Given the description of an element on the screen output the (x, y) to click on. 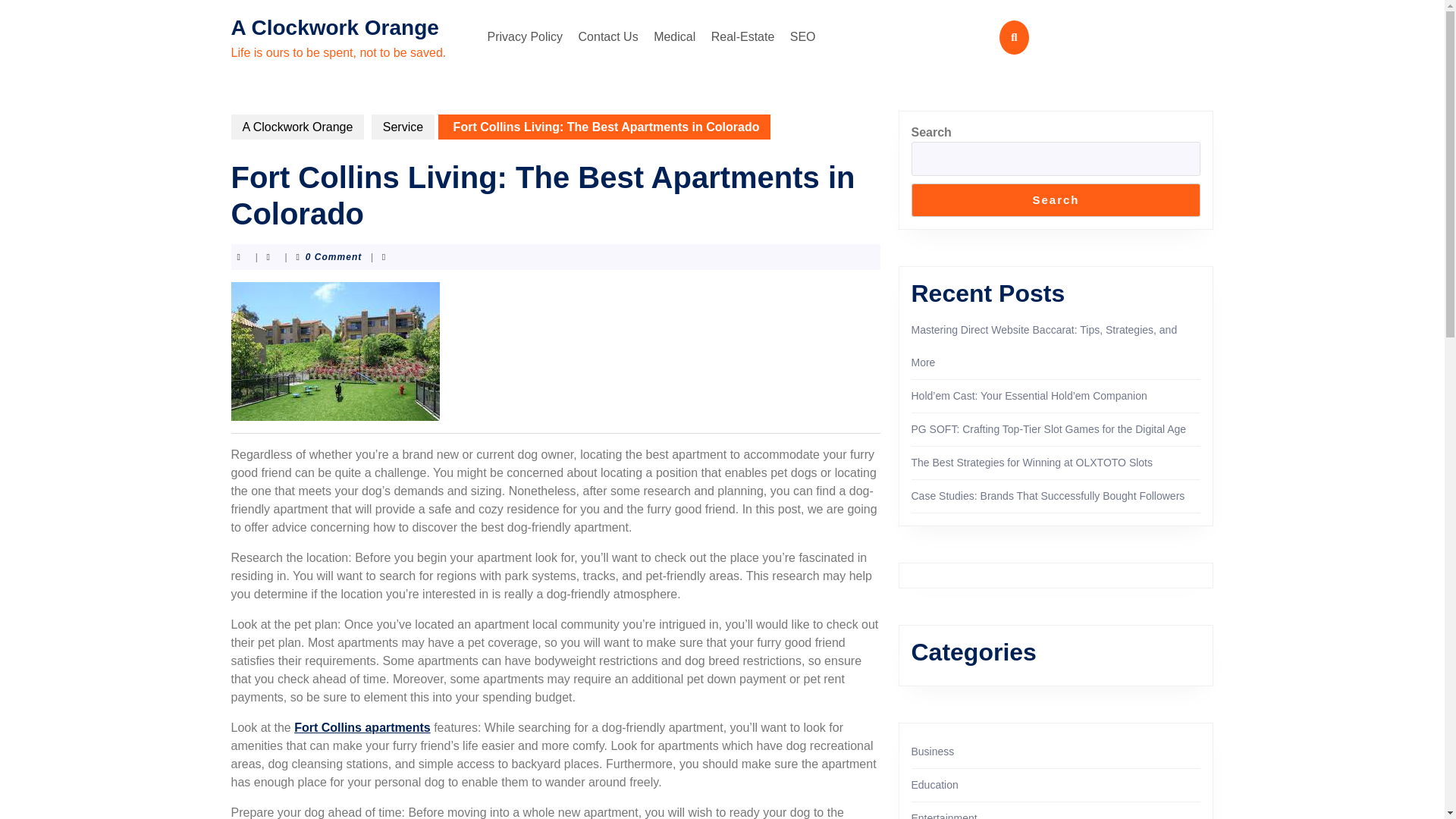
Search (1056, 200)
Fort Collins apartments (362, 727)
Real-Estate (742, 37)
Entertainment (943, 815)
SEO (803, 37)
Contact Us (608, 37)
Case Studies: Brands That Successfully Bought Followers (1048, 495)
A Clockwork Orange (334, 27)
Service (402, 126)
Education (934, 784)
Privacy Policy (524, 37)
Medical (674, 37)
PG SOFT: Crafting Top-Tier Slot Games for the Digital Age (1048, 428)
The Best Strategies for Winning at OLXTOTO Slots (1032, 462)
